Given the description of an element on the screen output the (x, y) to click on. 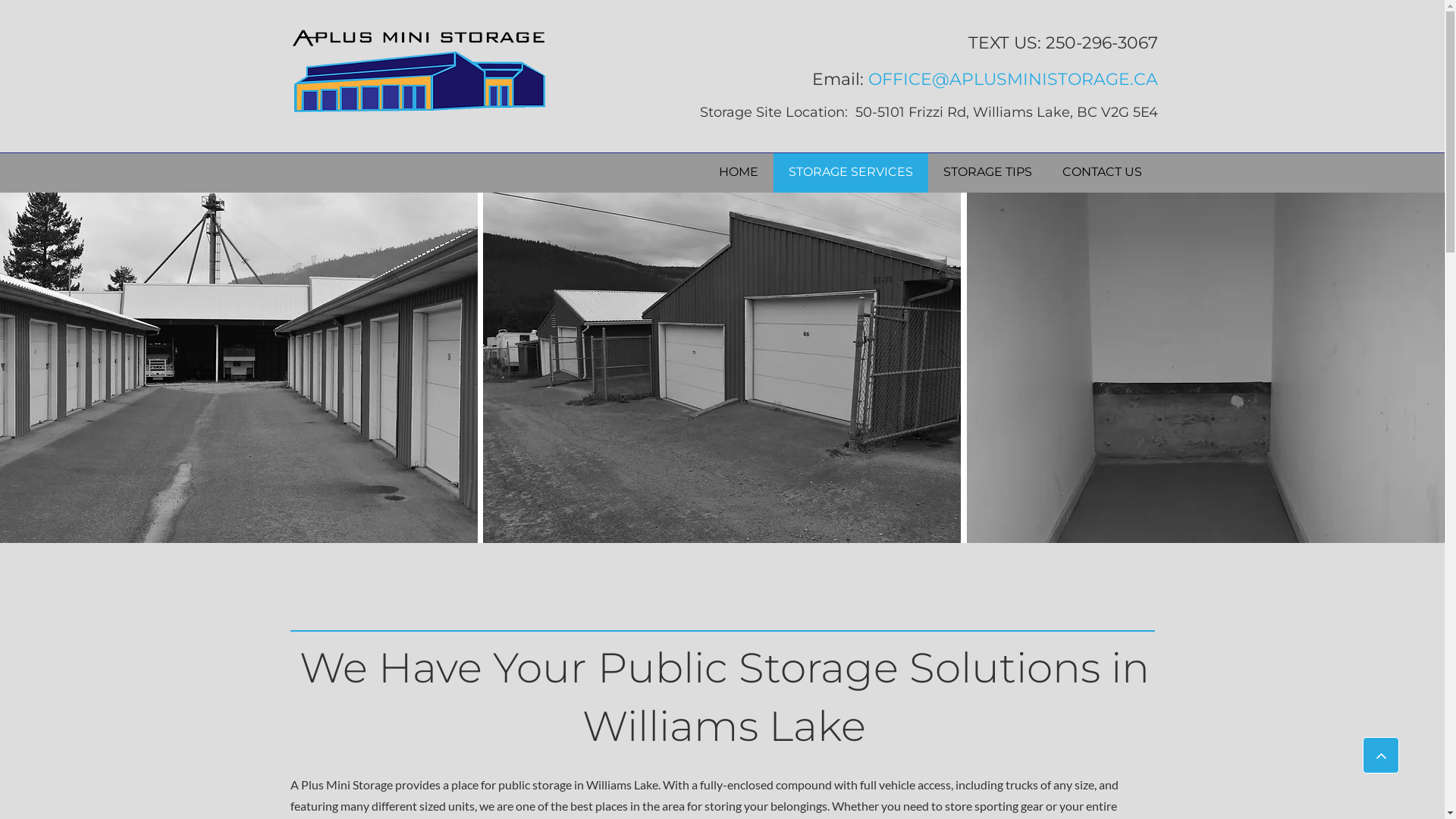
OFFICE@APLUSMINISTORAGE.CA Element type: text (1012, 79)
HOME Element type: text (738, 172)
STORAGE SERVICES Element type: text (850, 172)
CONTACT US Element type: text (1102, 172)
STORAGE TIPS Element type: text (987, 172)
